Given the description of an element on the screen output the (x, y) to click on. 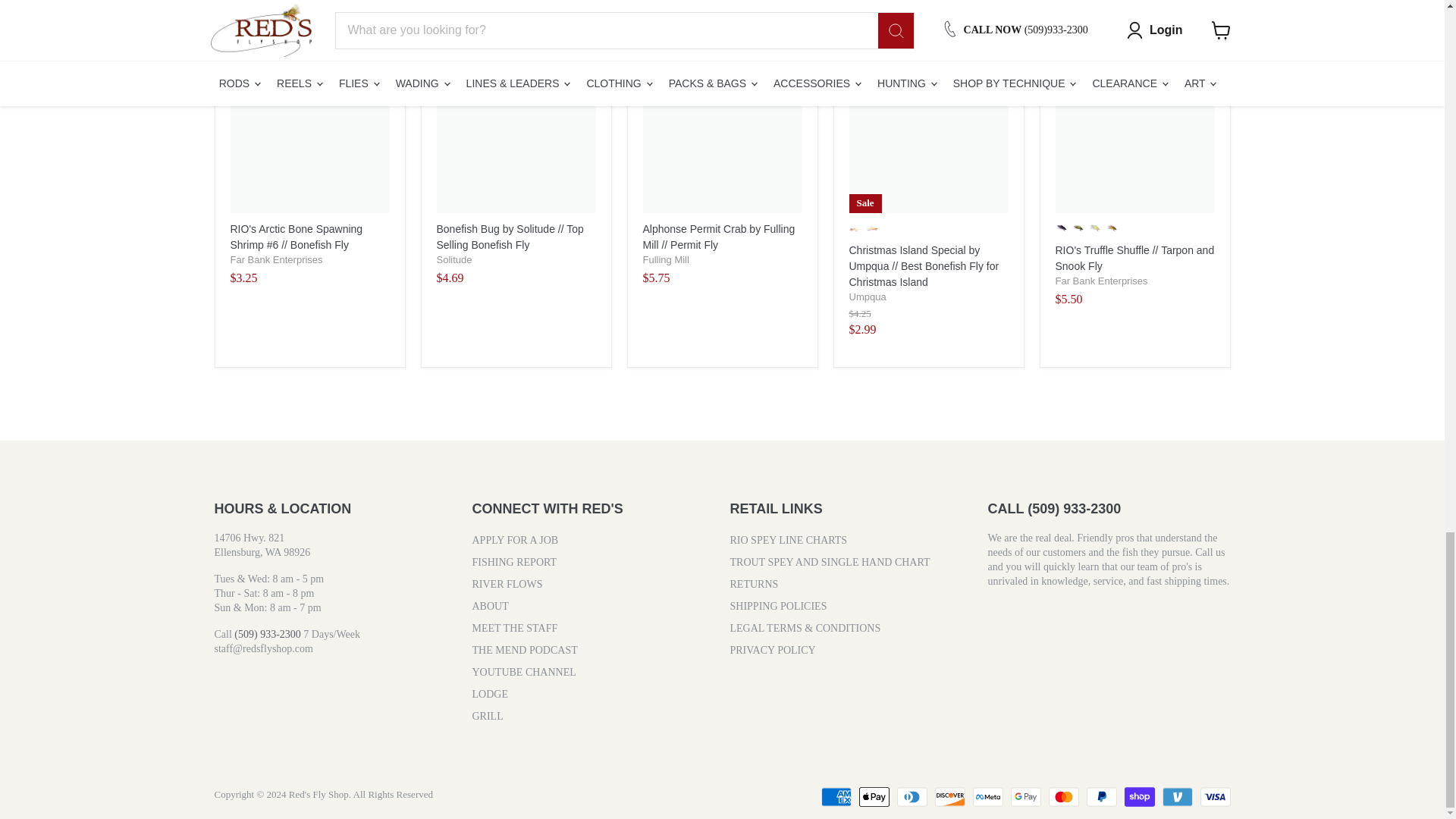
Far Bank Enterprises (276, 259)
Far Bank Enterprises (1101, 280)
Umpqua (867, 296)
Solitude (453, 259)
Fulling Mill (665, 259)
